Given the description of an element on the screen output the (x, y) to click on. 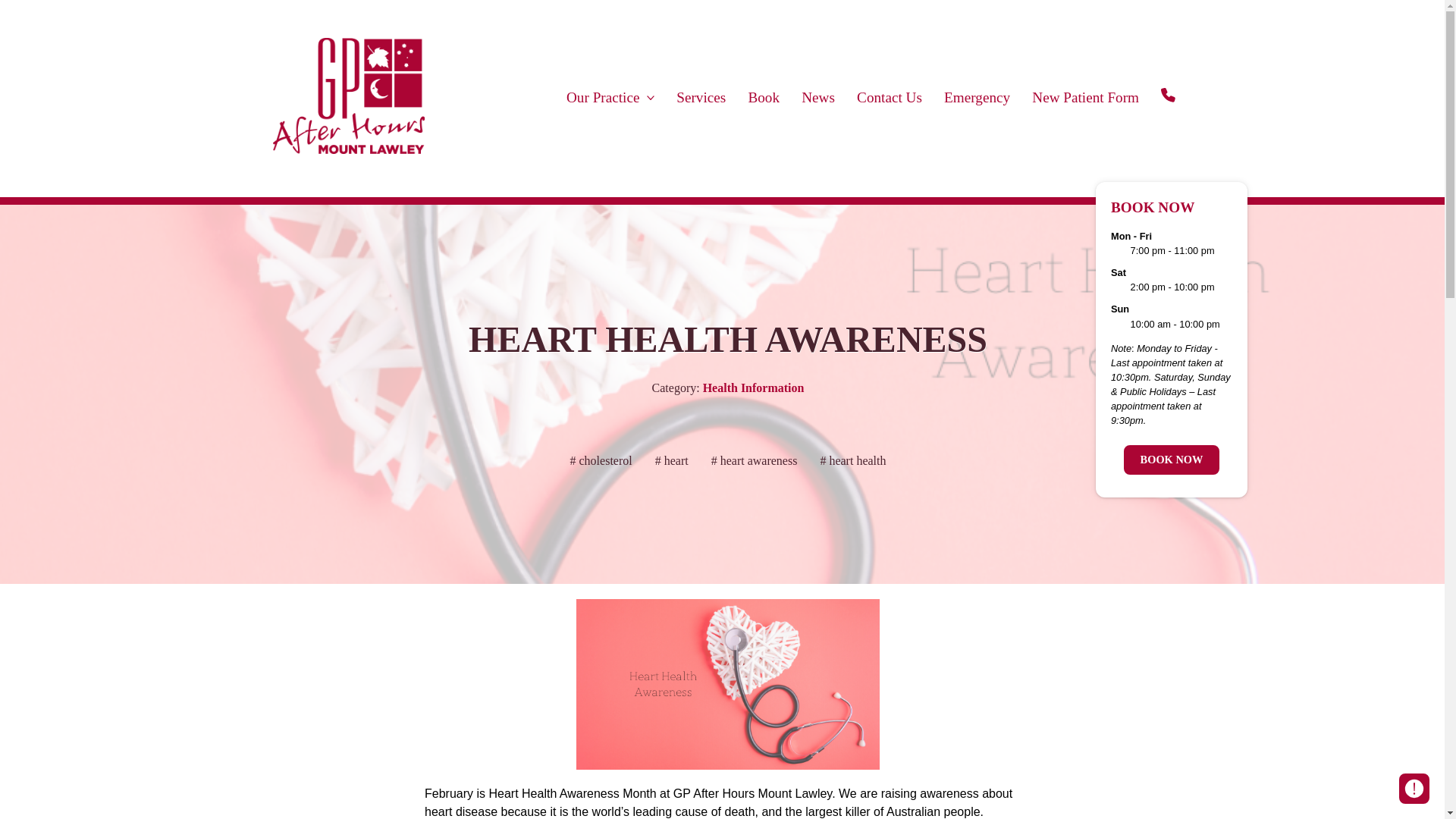
Services (701, 97)
heart health (852, 462)
News (818, 97)
BOOK NOW (1172, 459)
cholesterol (601, 462)
Contact Us (890, 97)
Our Practice (610, 97)
New Patient Form (1086, 97)
heart awareness (754, 462)
Health Information (754, 387)
heart (671, 462)
Book (764, 97)
Emergency (977, 97)
